Given the description of an element on the screen output the (x, y) to click on. 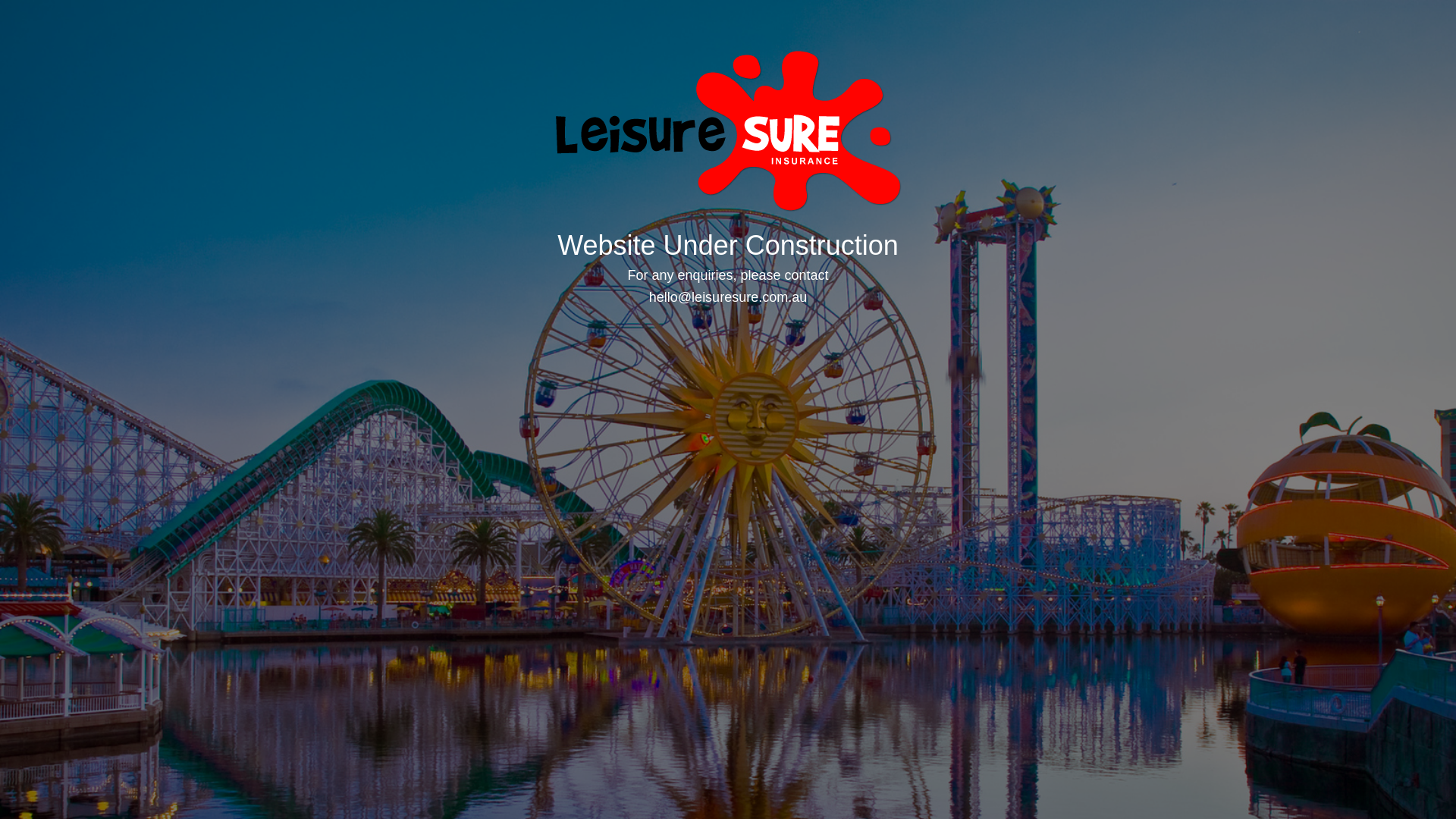
hello@leisuresure.com.au Element type: text (727, 296)
